Given the description of an element on the screen output the (x, y) to click on. 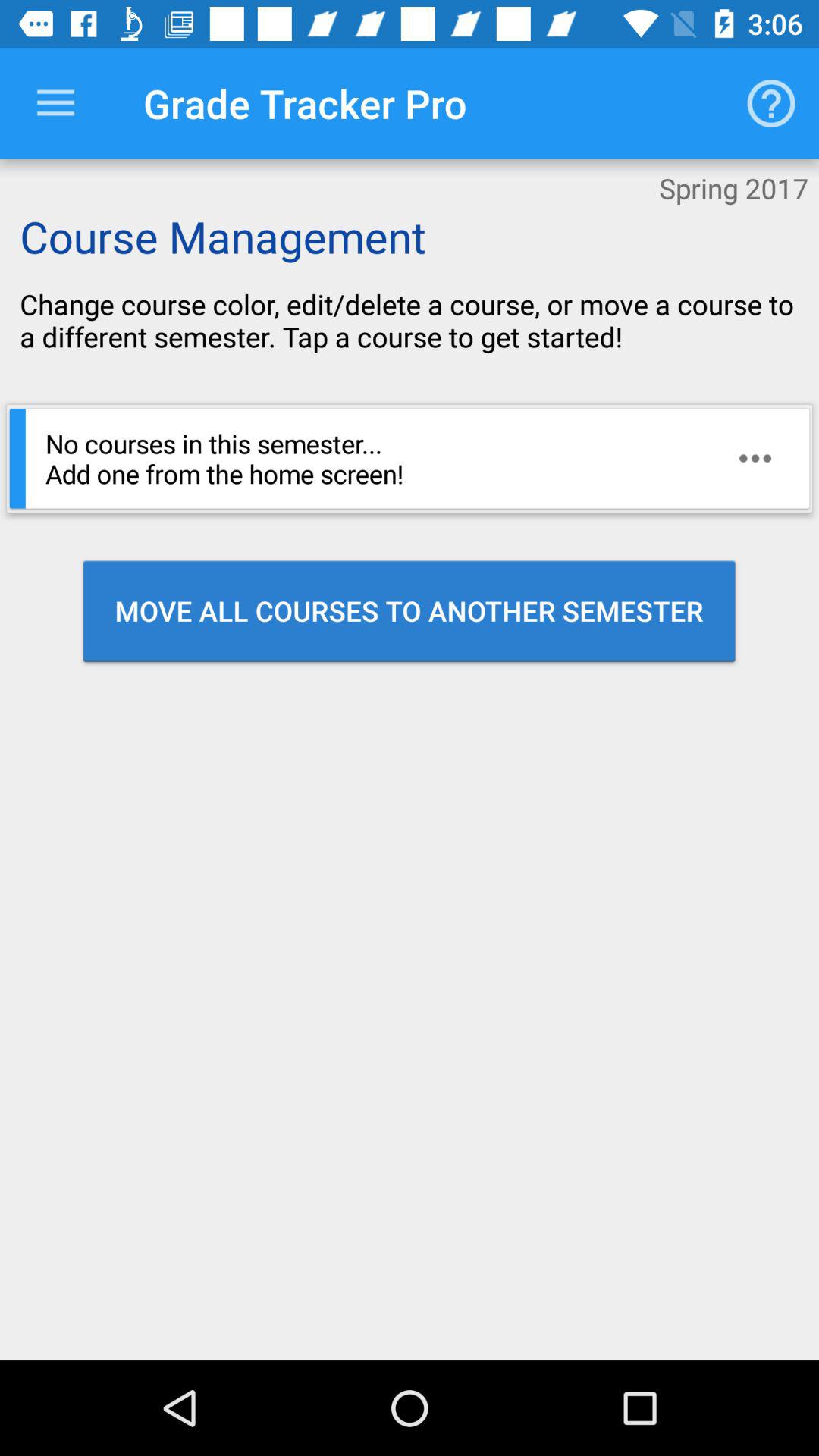
turn off the item to the left of grade tracker pro item (55, 103)
